Given the description of an element on the screen output the (x, y) to click on. 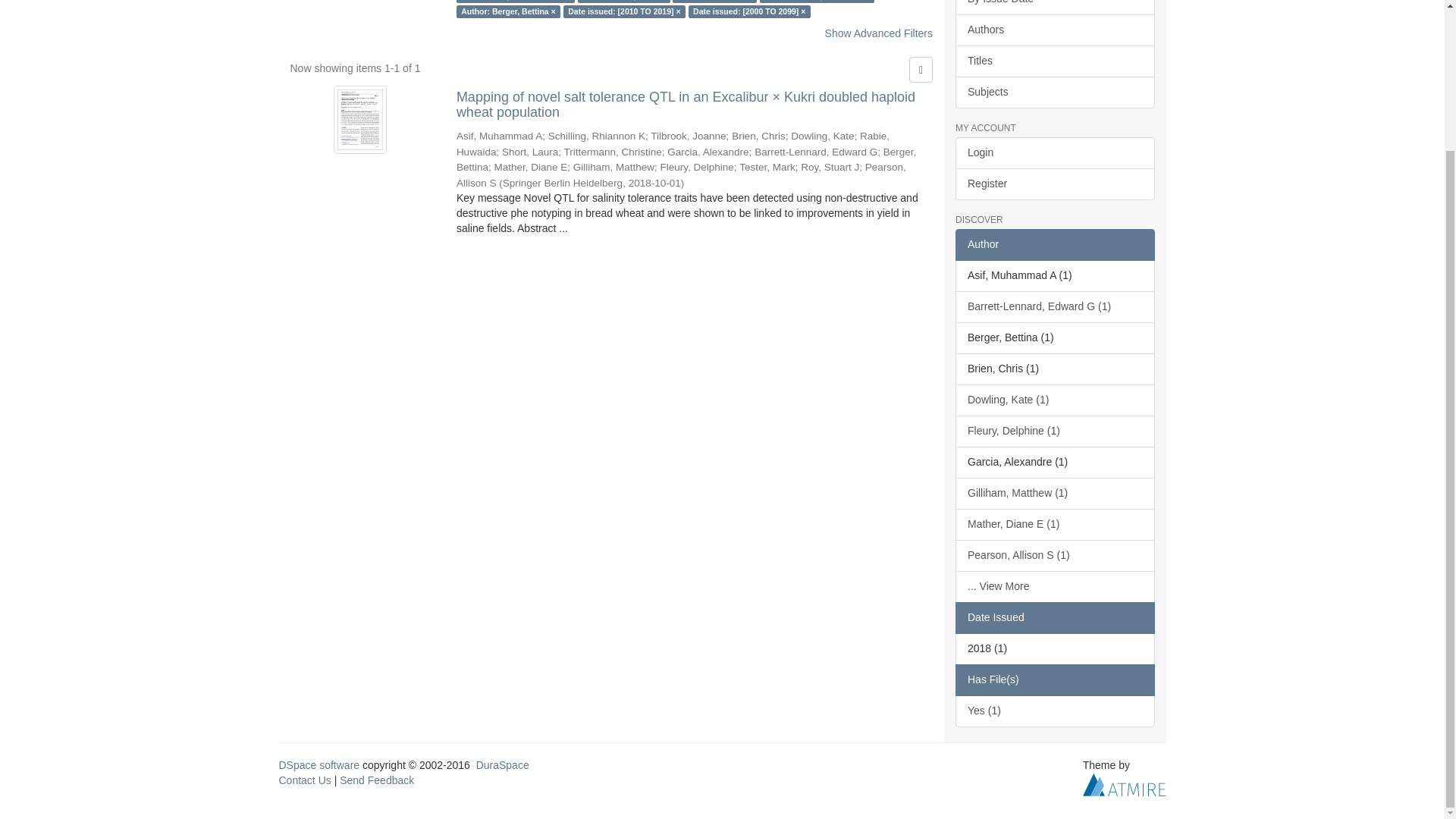
Atmire NV (1124, 784)
Show Advanced Filters (879, 33)
